Given the description of an element on the screen output the (x, y) to click on. 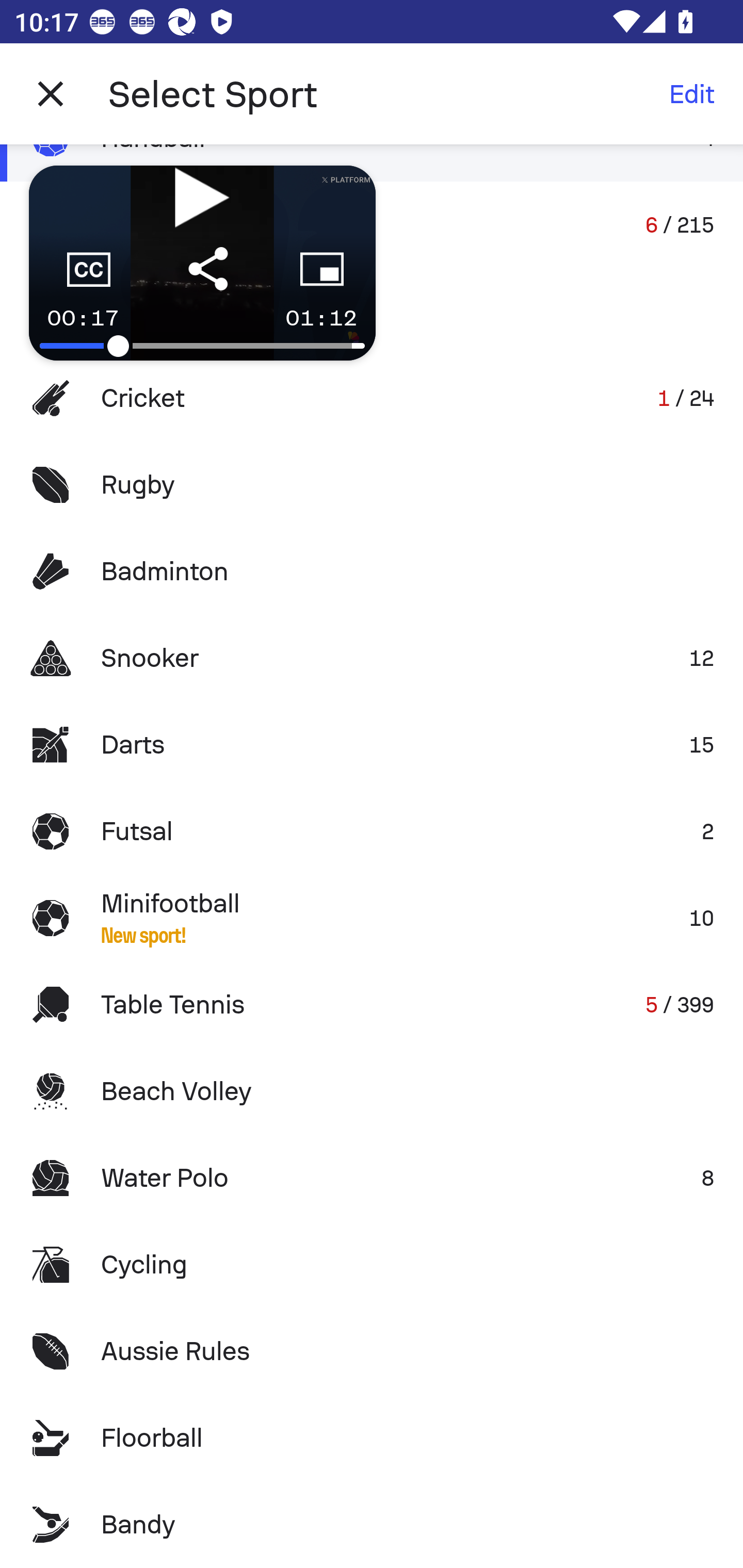
Edit (691, 93)
Cricket 1 / 24 (371, 398)
Rugby (371, 485)
Badminton (371, 571)
Snooker 12 (371, 657)
Darts 15 (371, 744)
Futsal 2 (371, 831)
Minifootball New sport! 10 (371, 917)
Table Tennis 5 / 399 (371, 1004)
Beach Volley (371, 1091)
Water Polo 8 (371, 1178)
Cycling (371, 1264)
Aussie Rules (371, 1350)
Floorball (371, 1437)
Bandy (371, 1524)
